Given the description of an element on the screen output the (x, y) to click on. 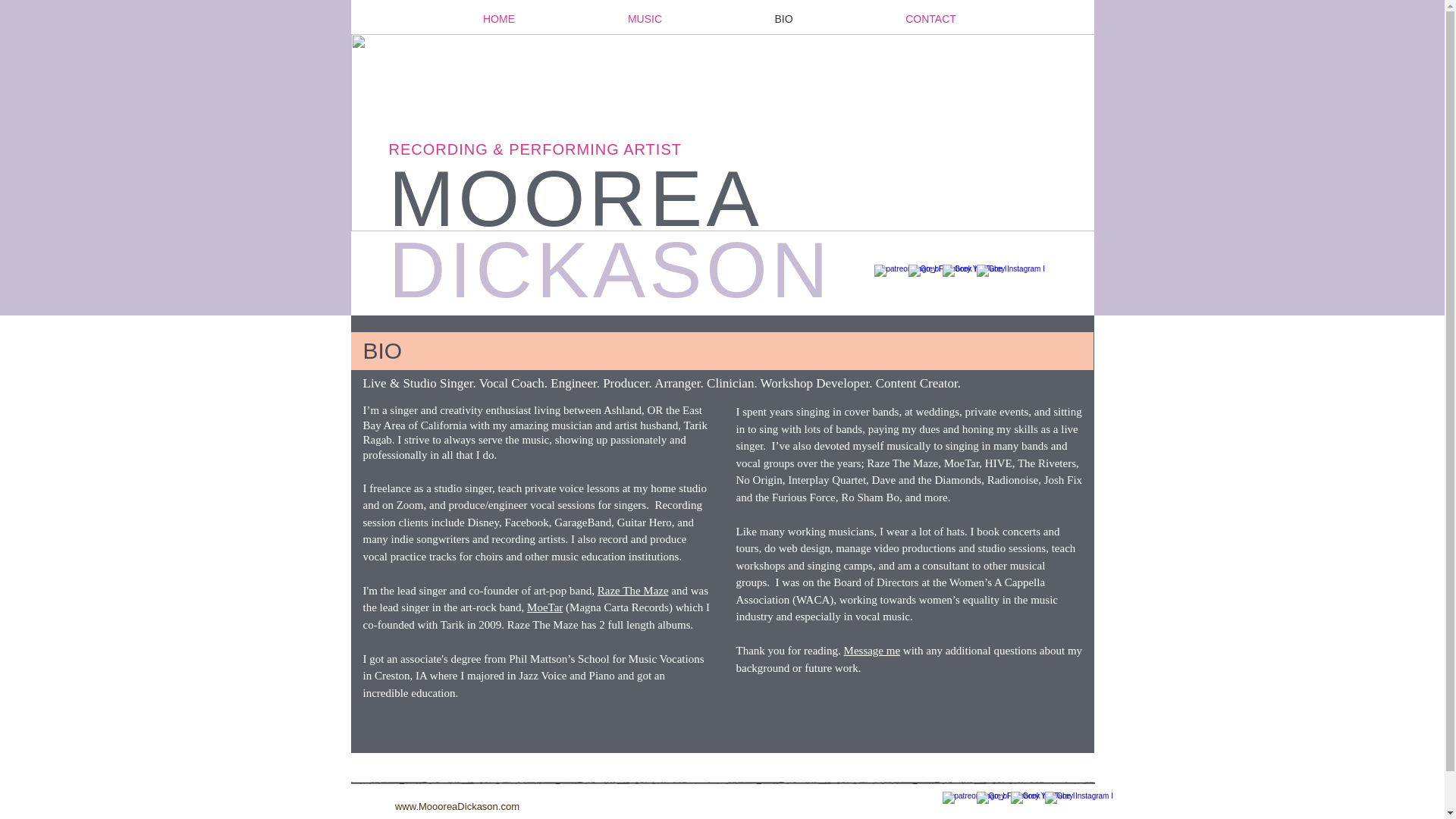
Message me (872, 650)
www.MoooreaDickason.com (456, 806)
MoeTar (544, 607)
CONTACT (930, 18)
HOME (498, 18)
MOOREA  (586, 198)
Raze The Maze (632, 590)
MUSIC (645, 18)
BIO (783, 18)
